Given the description of an element on the screen output the (x, y) to click on. 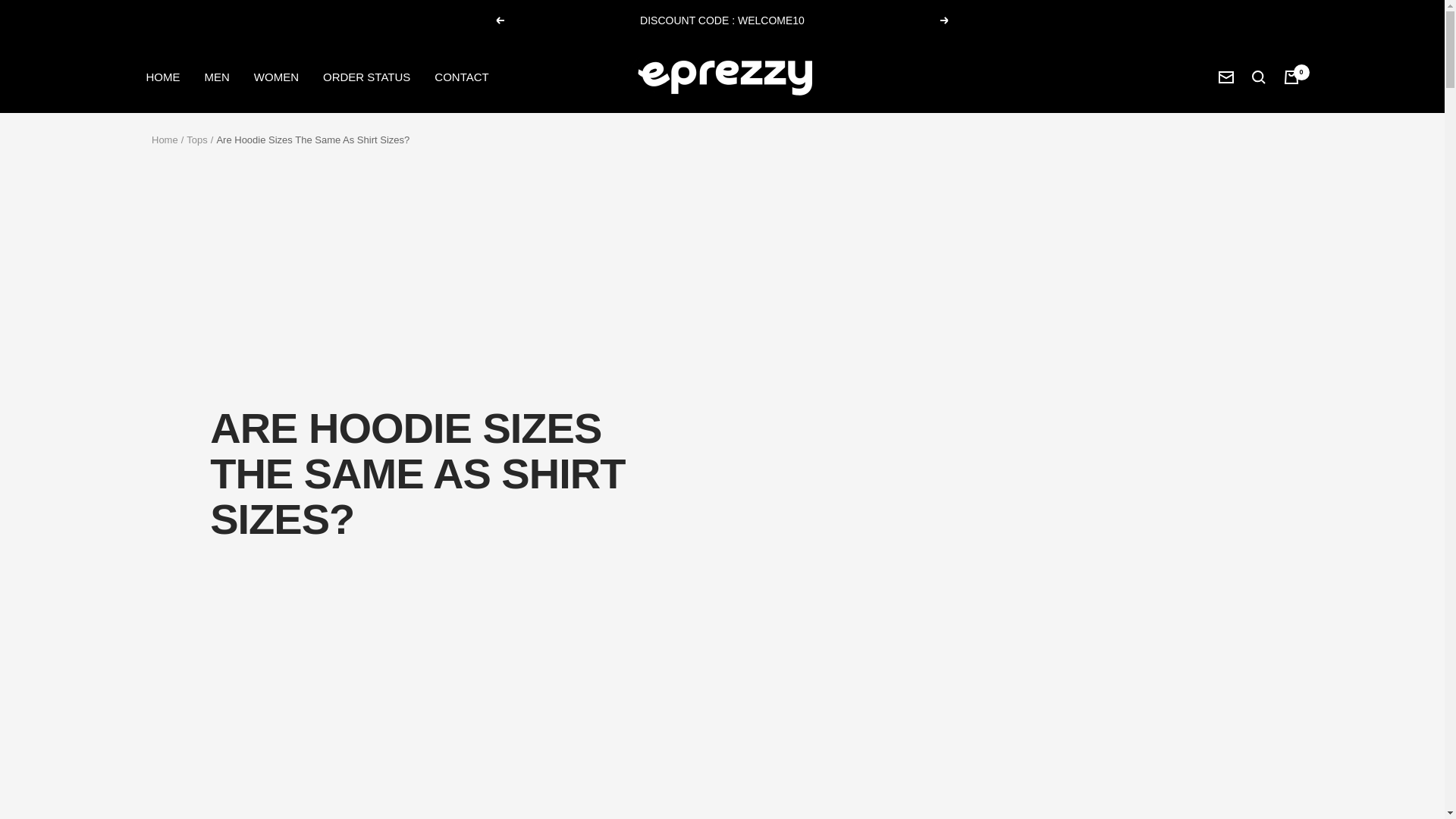
0 (1290, 76)
Tops (196, 139)
WOMEN (275, 76)
HOME (162, 76)
MEN (217, 76)
Next (944, 20)
ORDER STATUS (366, 76)
Eprezzy (721, 76)
Newsletter (1225, 77)
Home (164, 139)
Previous (499, 20)
CONTACT (460, 76)
